Given the description of an element on the screen output the (x, y) to click on. 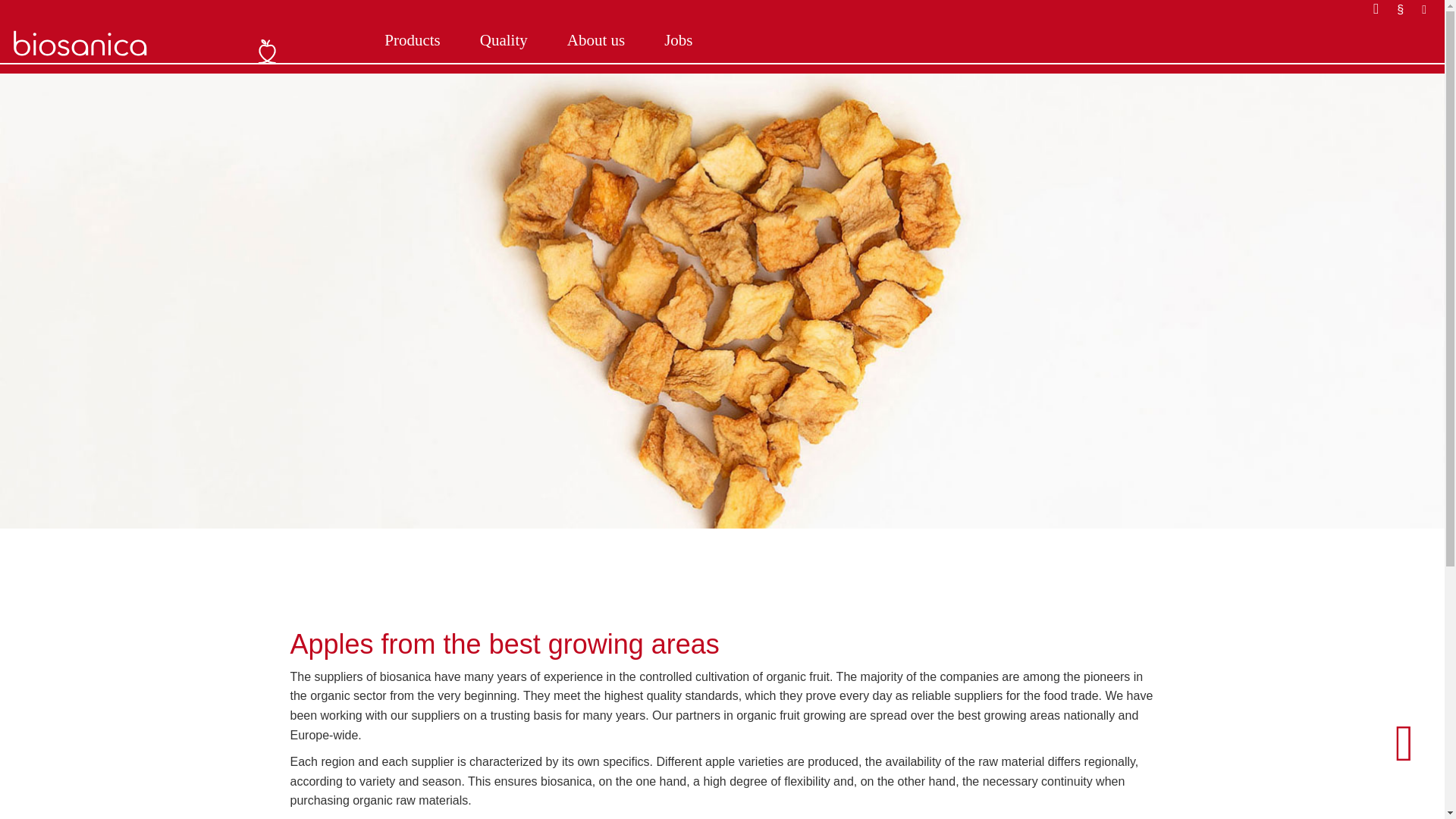
Privacy Policy (1430, 9)
About us (601, 41)
Imprint (1405, 9)
Products (418, 41)
Contact (1381, 9)
Quality (509, 41)
